Given the description of an element on the screen output the (x, y) to click on. 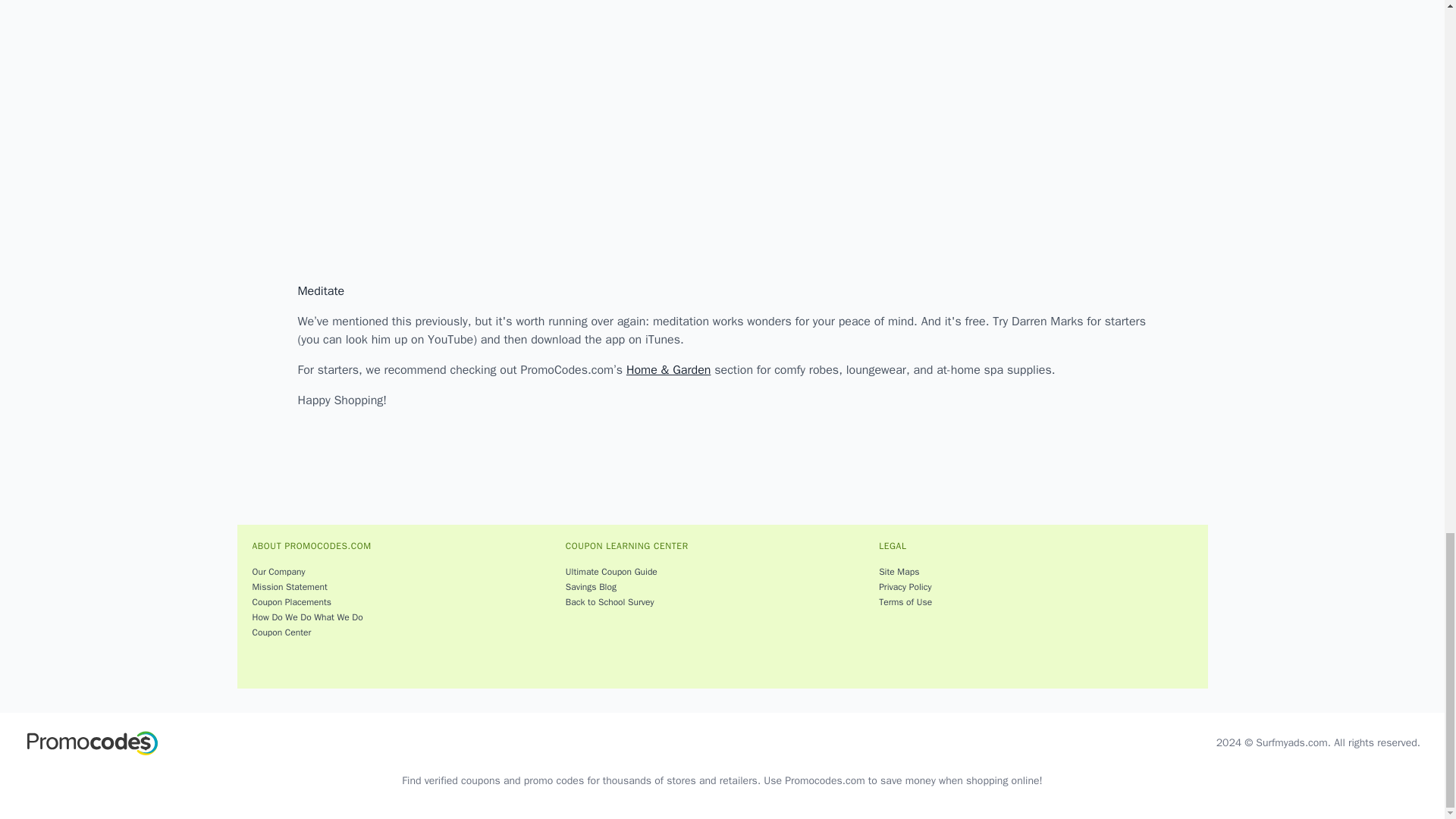
How Do We Do What We Do (405, 616)
Back to School Survey (719, 601)
Coupon Center (405, 631)
Coupon Placements (405, 601)
Savings Blog (719, 586)
Our Company (405, 571)
Ultimate Coupon Guide (719, 571)
Mission Statement (405, 586)
